Given the description of an element on the screen output the (x, y) to click on. 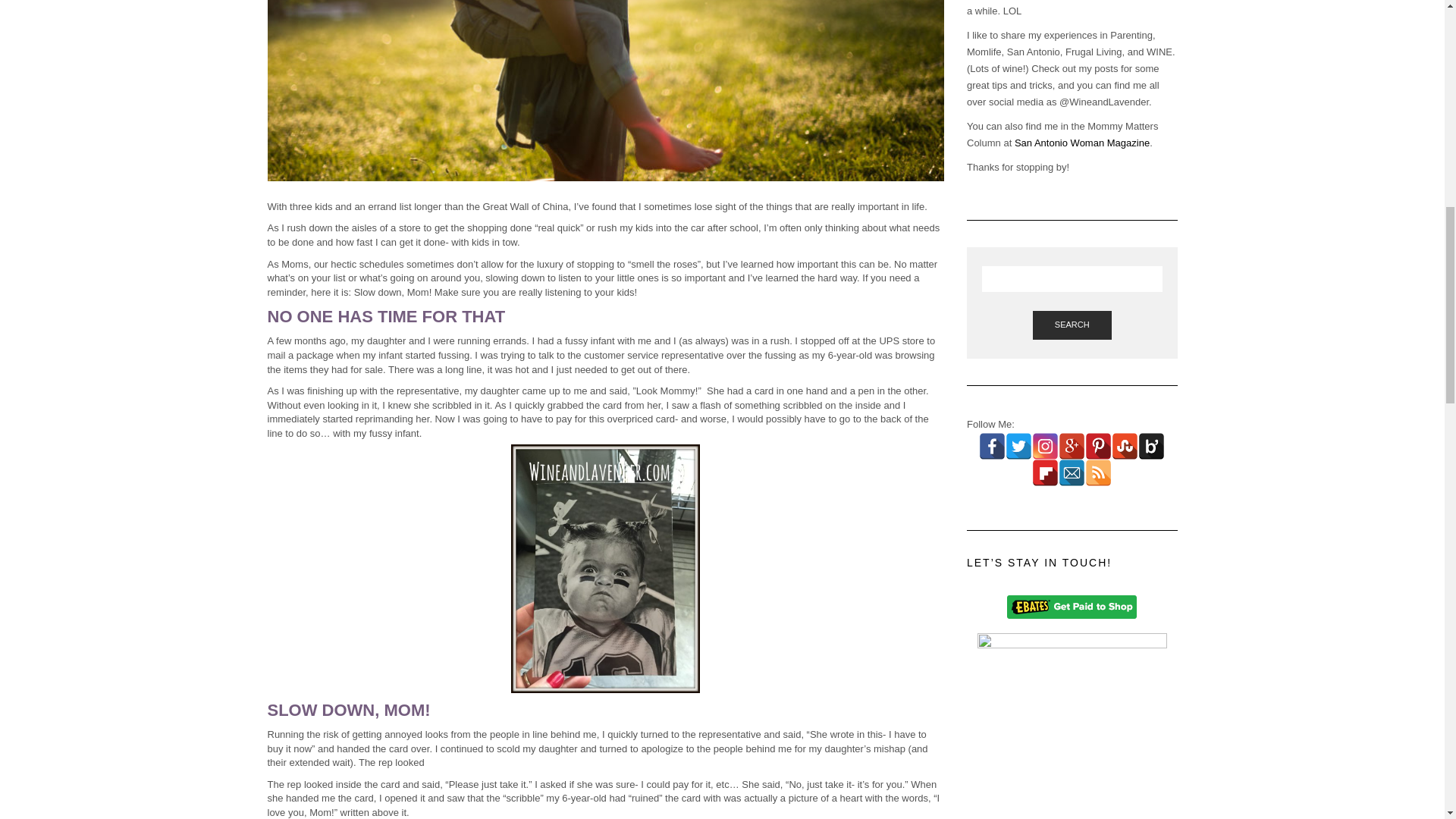
Twitter (1019, 446)
Flipboard (1045, 472)
Pinterest (1098, 446)
Instagram (1045, 446)
StumbleUpon (1125, 446)
RSS Feed (1098, 472)
Bloglovin (1151, 446)
Email (1071, 472)
Facebook (992, 446)
San Antonio Woman Magazine (1082, 142)
